Given the description of an element on the screen output the (x, y) to click on. 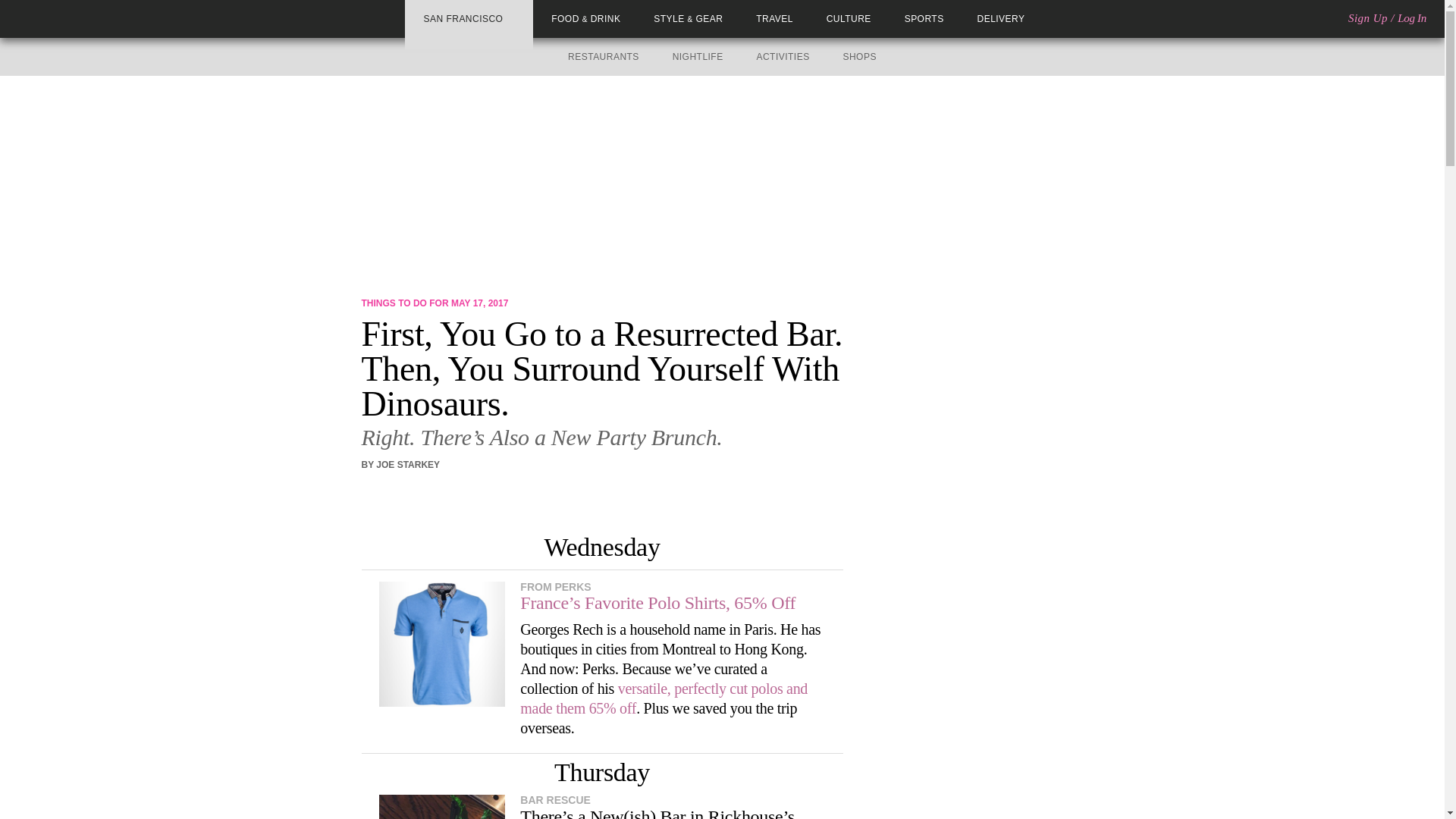
RESTAURANTS (603, 56)
UrbanDaddy (67, 18)
Save (437, 492)
Sign Up (1367, 18)
NIGHTLIFE (697, 56)
TRAVEL (774, 18)
DELIVERY (1000, 18)
CULTURE (848, 18)
ACTIVITIES (782, 56)
